Given the description of an element on the screen output the (x, y) to click on. 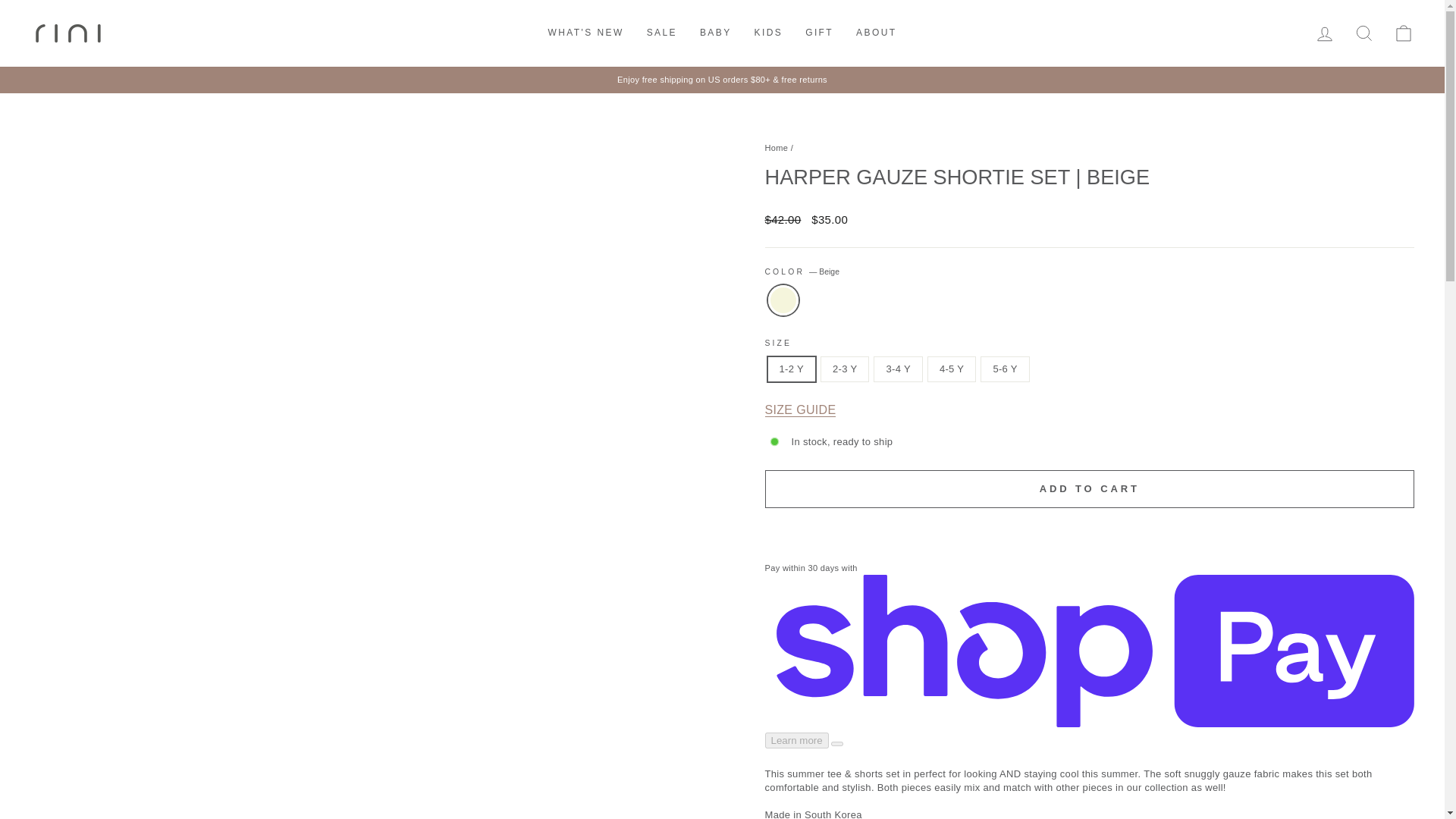
Back to the frontpage (775, 147)
